Given the description of an element on the screen output the (x, y) to click on. 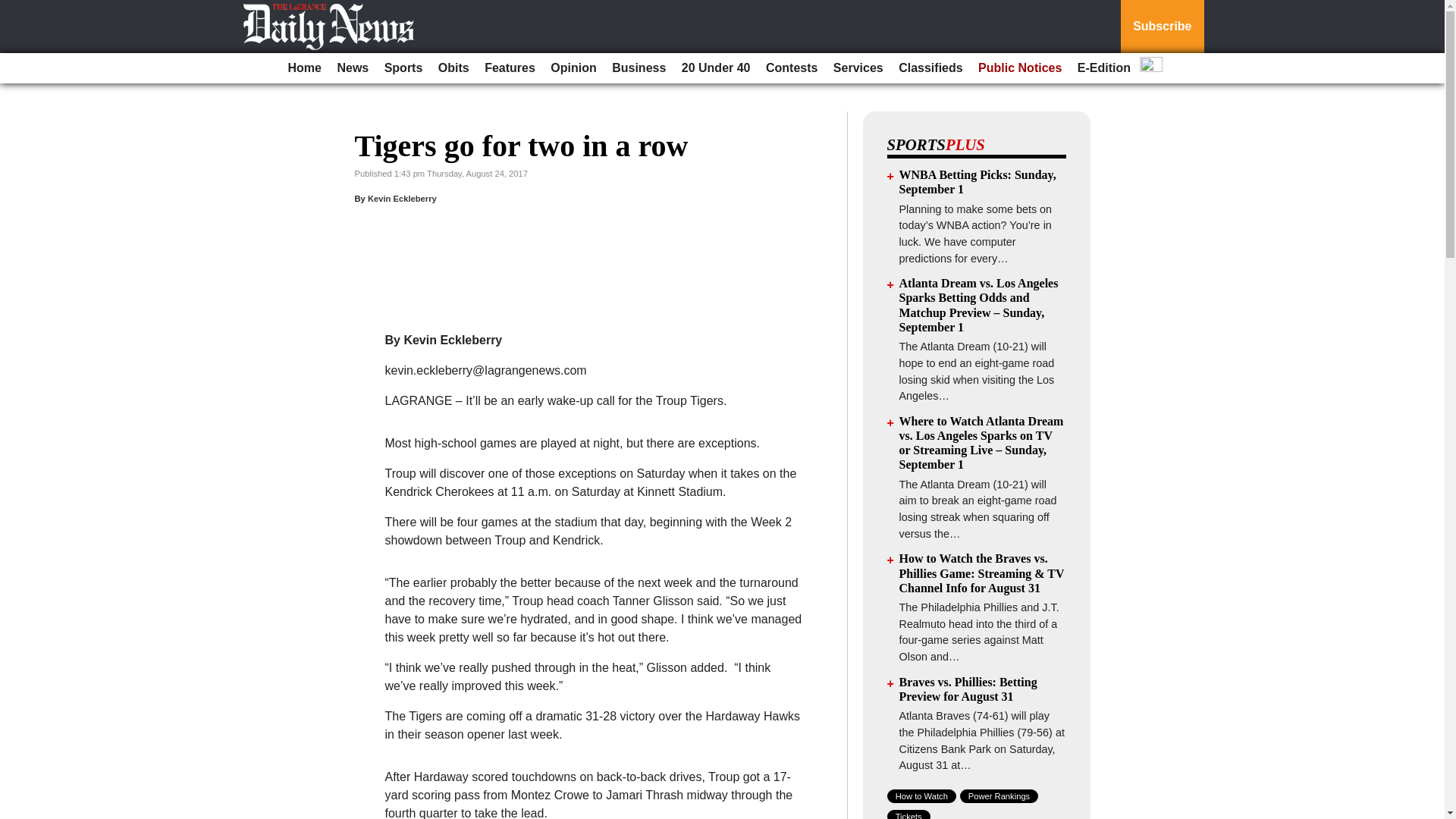
Braves vs. Phillies: Betting Preview for August 31 (967, 688)
Sports (403, 68)
20 Under 40 (716, 68)
Power Rankings (999, 796)
How to Watch (921, 796)
Business (638, 68)
Opinion (573, 68)
Public Notices (1019, 68)
Services (858, 68)
Kevin Eckleberry (402, 198)
